Given the description of an element on the screen output the (x, y) to click on. 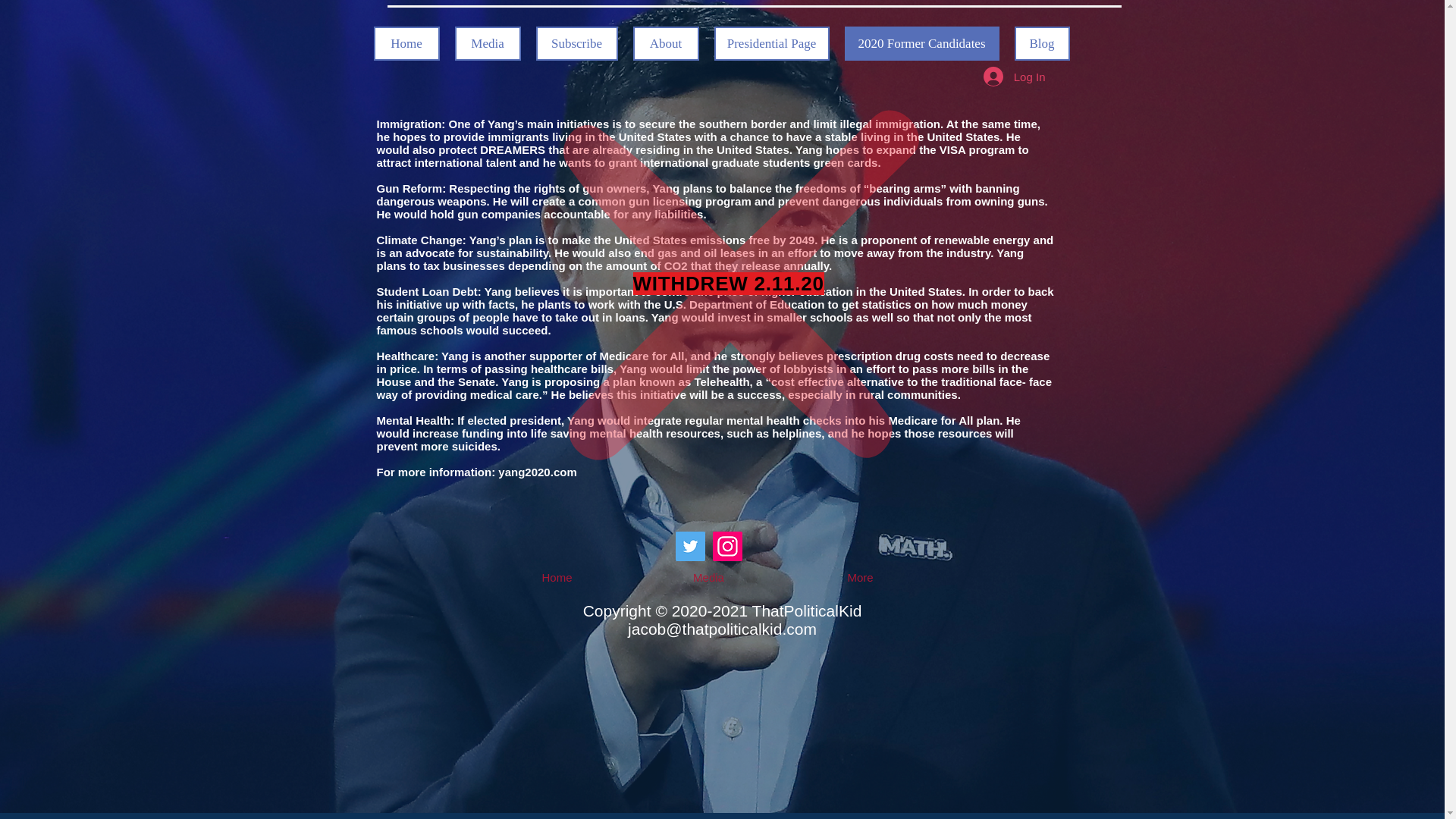
Blog (1042, 43)
Log In (1014, 76)
2020 Former Candidates (921, 43)
Media (487, 43)
Subscribe (576, 43)
Media (707, 577)
Home (555, 577)
About (664, 43)
Presidential Page (771, 43)
Home (405, 43)
